Given the description of an element on the screen output the (x, y) to click on. 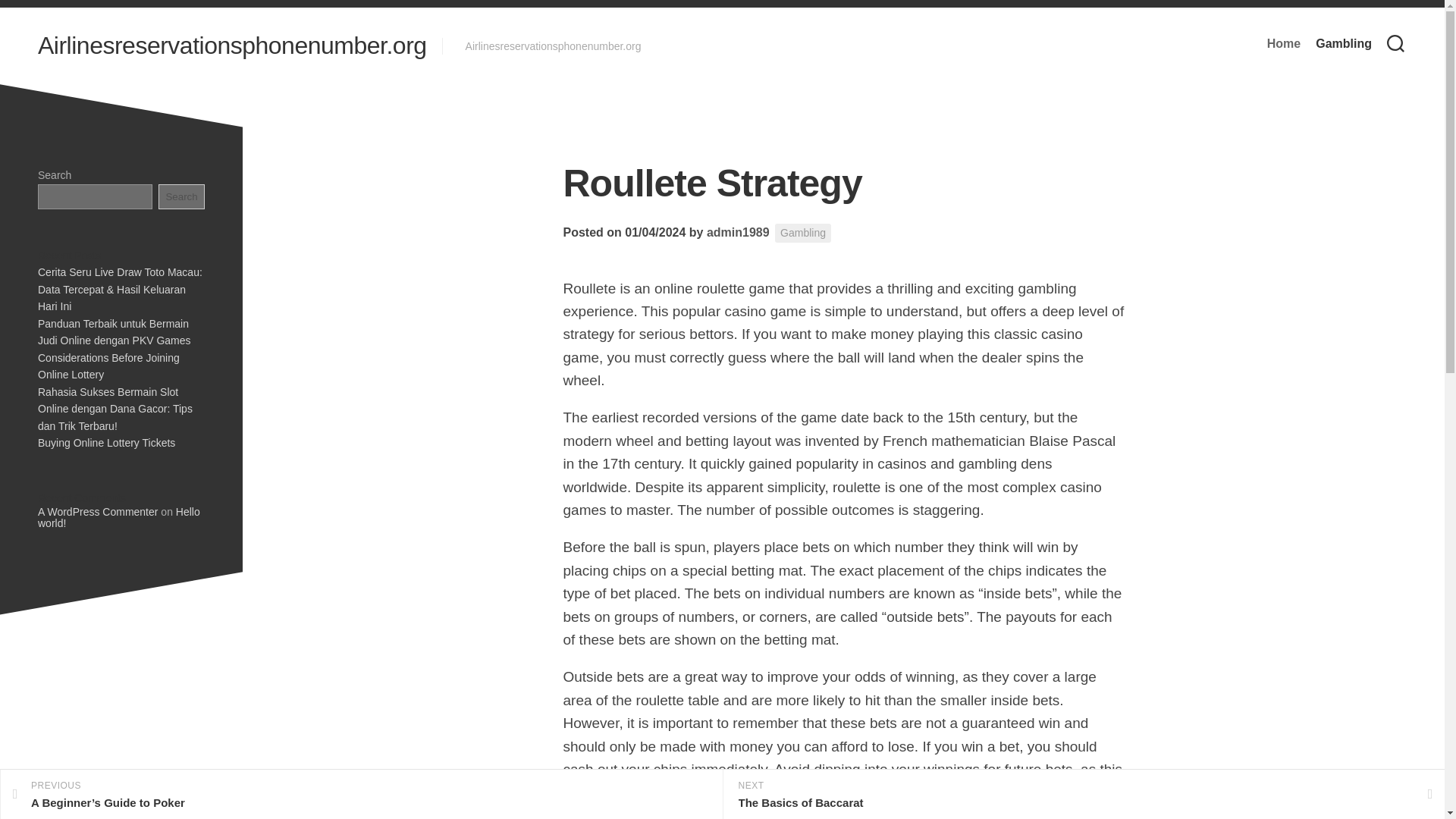
Airlinesreservationsphonenumber.org (231, 44)
Gambling (1343, 43)
Gambling (802, 232)
Home (1283, 43)
Considerations Before Joining Online Lottery (108, 366)
Panduan Terbaik untuk Bermain Judi Online dengan PKV Games (113, 331)
Buying Online Lottery Tickets (105, 442)
A WordPress Commenter (97, 511)
Search (181, 195)
admin1989 (738, 232)
Posts by admin1989 (738, 232)
Hello world! (118, 517)
